Given the description of an element on the screen output the (x, y) to click on. 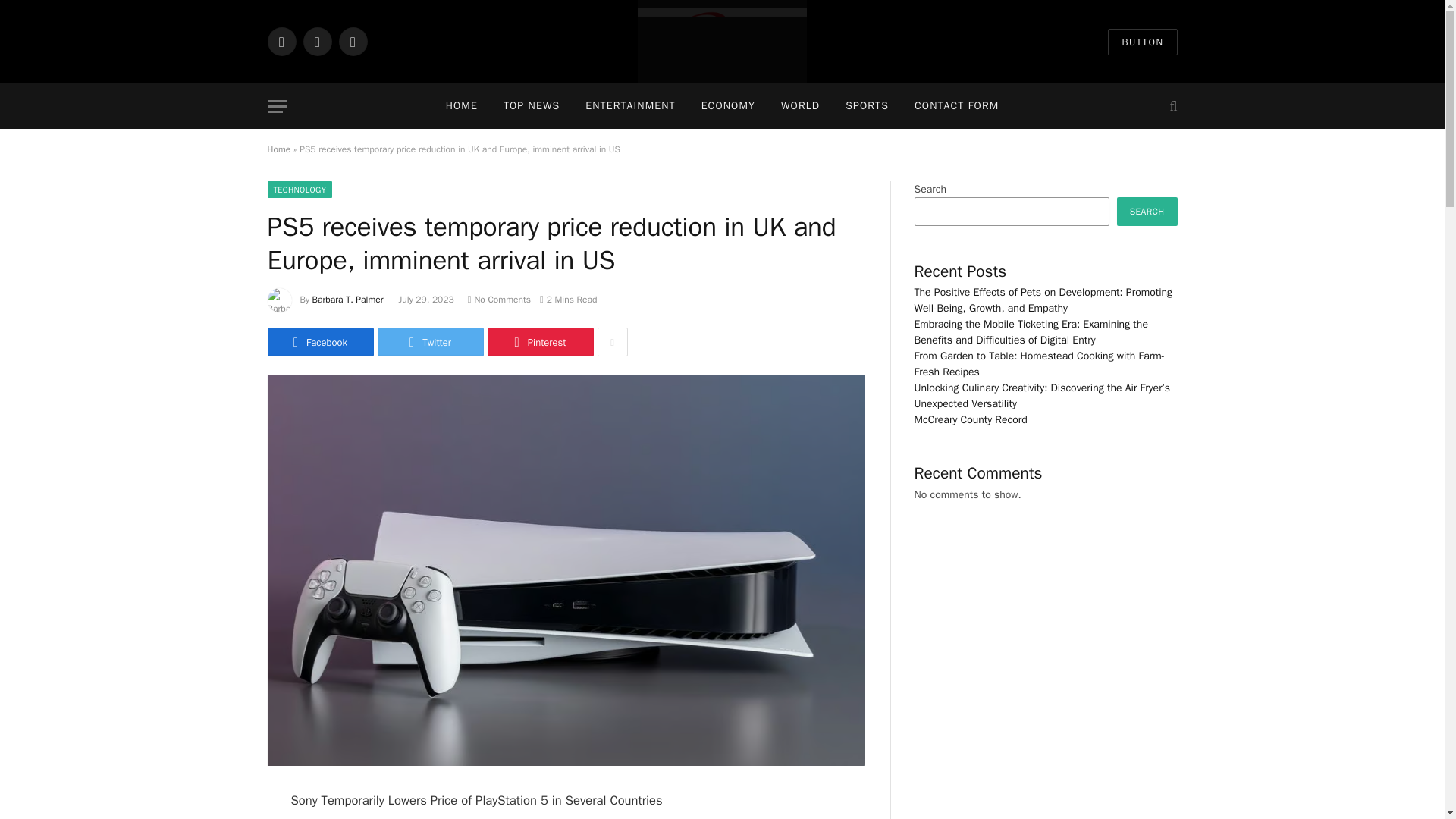
Instagram (351, 41)
HOME (461, 105)
Facebook (319, 341)
Share on Facebook (319, 341)
BUTTON (1142, 41)
No Comments (499, 299)
McCreary County Record (721, 41)
Share on Pinterest (539, 341)
Pinterest (539, 341)
CONTACT FORM (956, 105)
Posts by Barbara T. Palmer (348, 299)
SPORTS (866, 105)
Search (1171, 106)
Barbara T. Palmer (348, 299)
Twitter (430, 341)
